Given the description of an element on the screen output the (x, y) to click on. 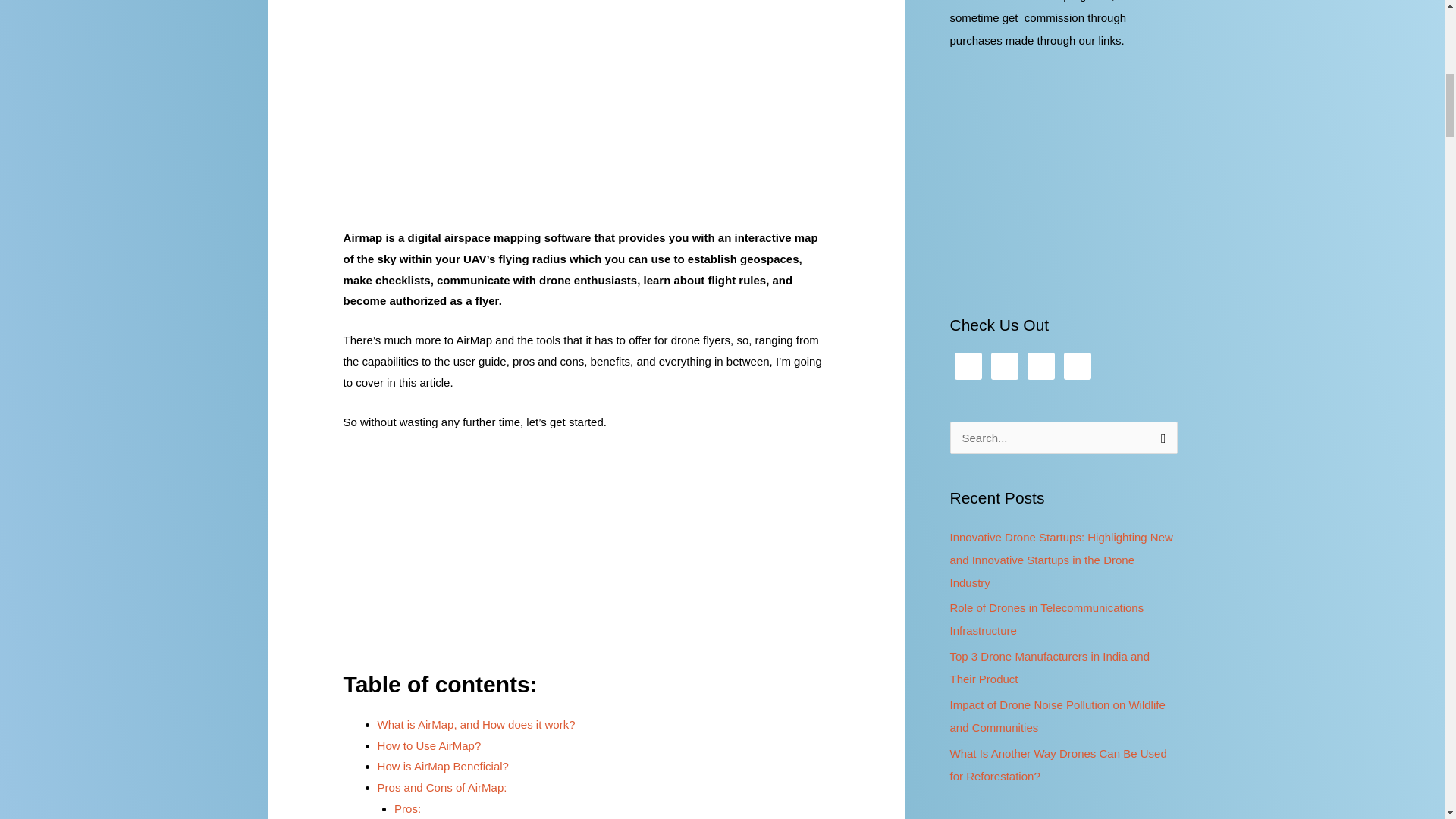
Search (1159, 436)
What Is Another Way Drones Can Be Used for Reforestation? (1057, 764)
Search (1159, 436)
Search (1159, 436)
Pros: (407, 808)
How is AirMap Beneficial? (442, 766)
What is AirMap, and How does it work? (476, 724)
Role of Drones in Telecommunications Infrastructure (1045, 619)
Top 3 Drone Manufacturers in India and Their Product (1049, 667)
Pros and Cons of AirMap: (441, 787)
How to Use AirMap? (429, 744)
Impact of Drone Noise Pollution on Wildlife and Communities (1056, 715)
